Given the description of an element on the screen output the (x, y) to click on. 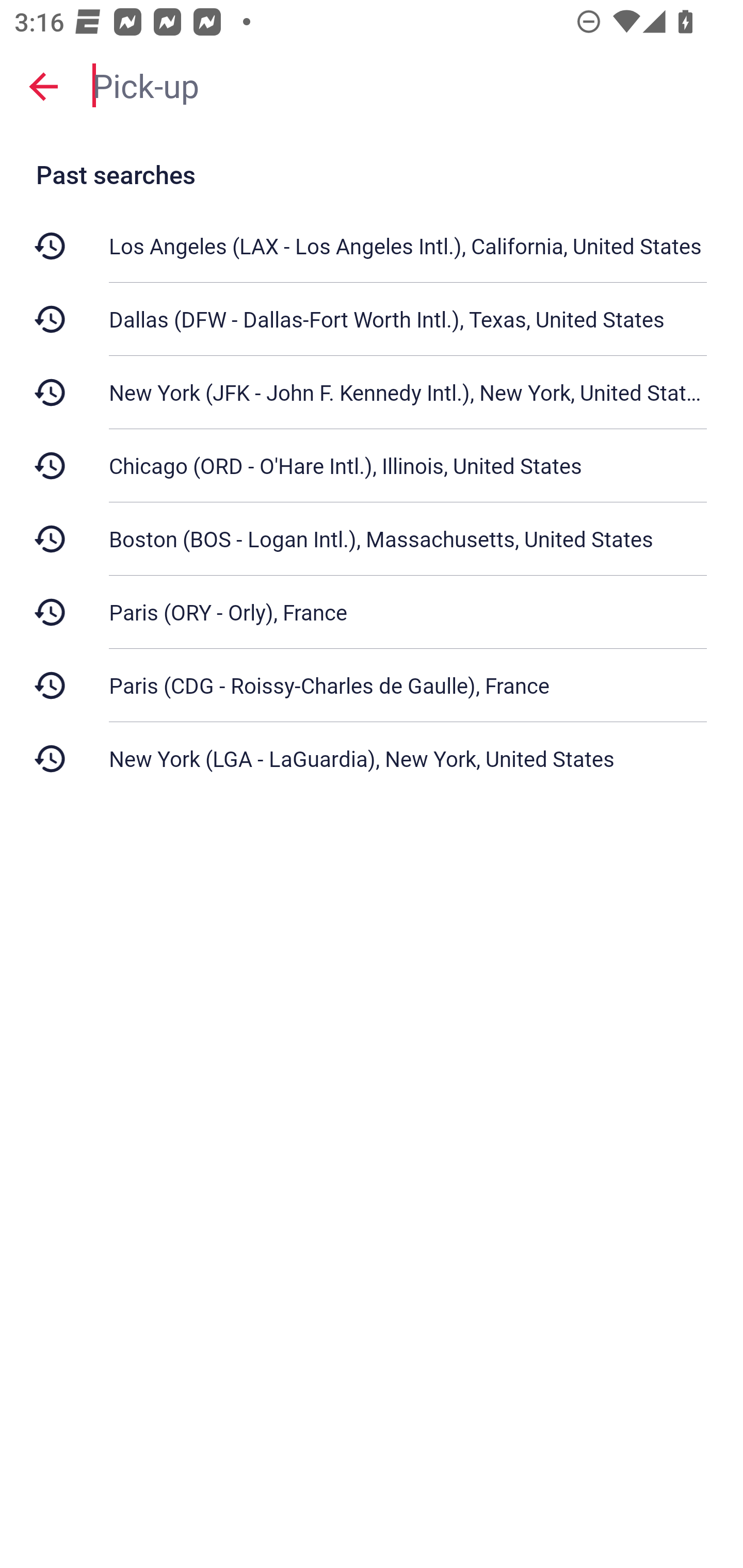
Pick-up,  (407, 85)
Close search screen (43, 86)
